Given the description of an element on the screen output the (x, y) to click on. 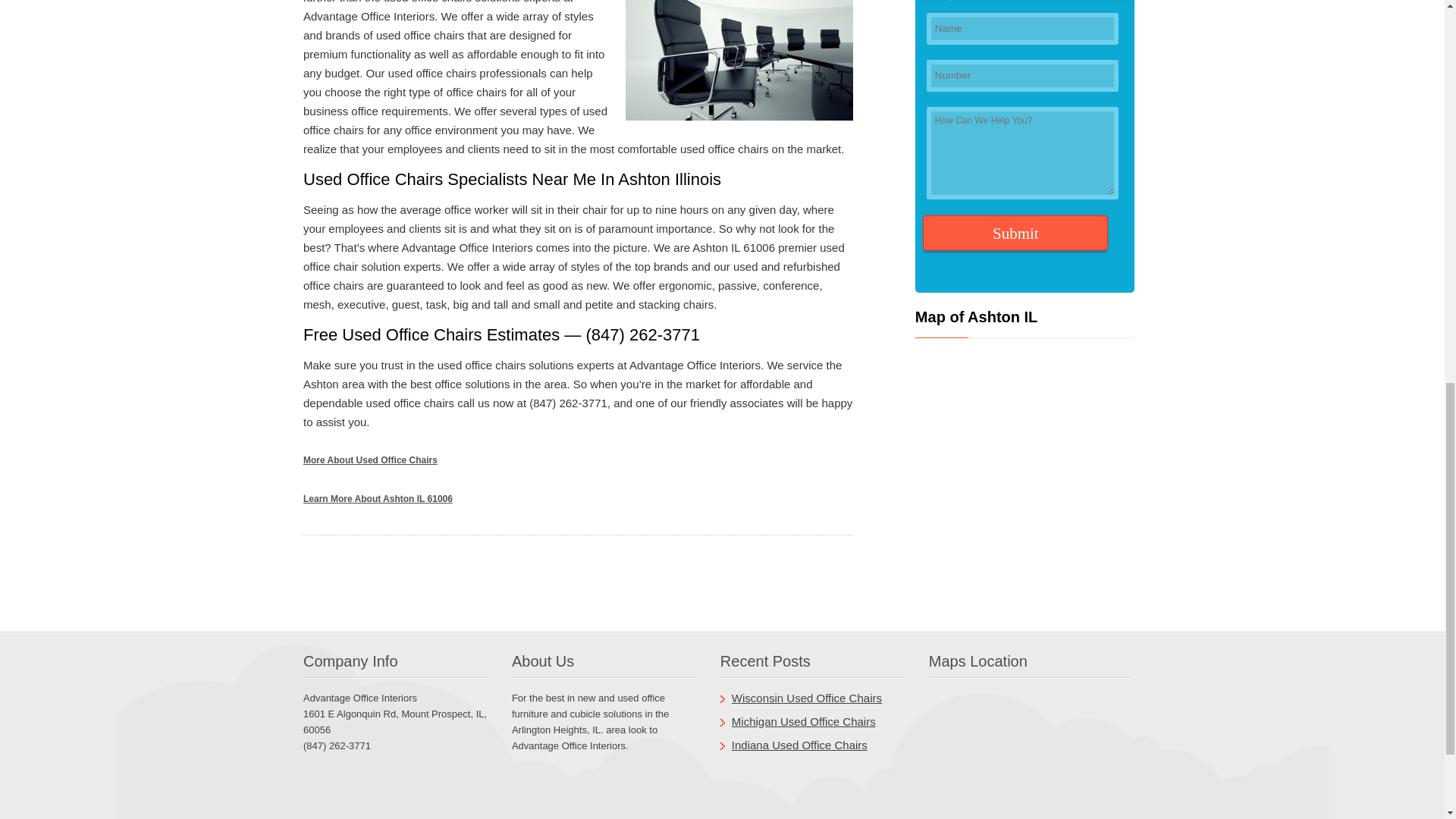
Learn More About Ashton IL 61006 (377, 498)
Wisconsin Used Office Chairs (807, 697)
Submit (1015, 233)
More About Used Office Chairs (370, 460)
Indiana Used Office Chairs (799, 744)
Michigan Used Office Chairs (804, 721)
Submit (1015, 233)
